Given the description of an element on the screen output the (x, y) to click on. 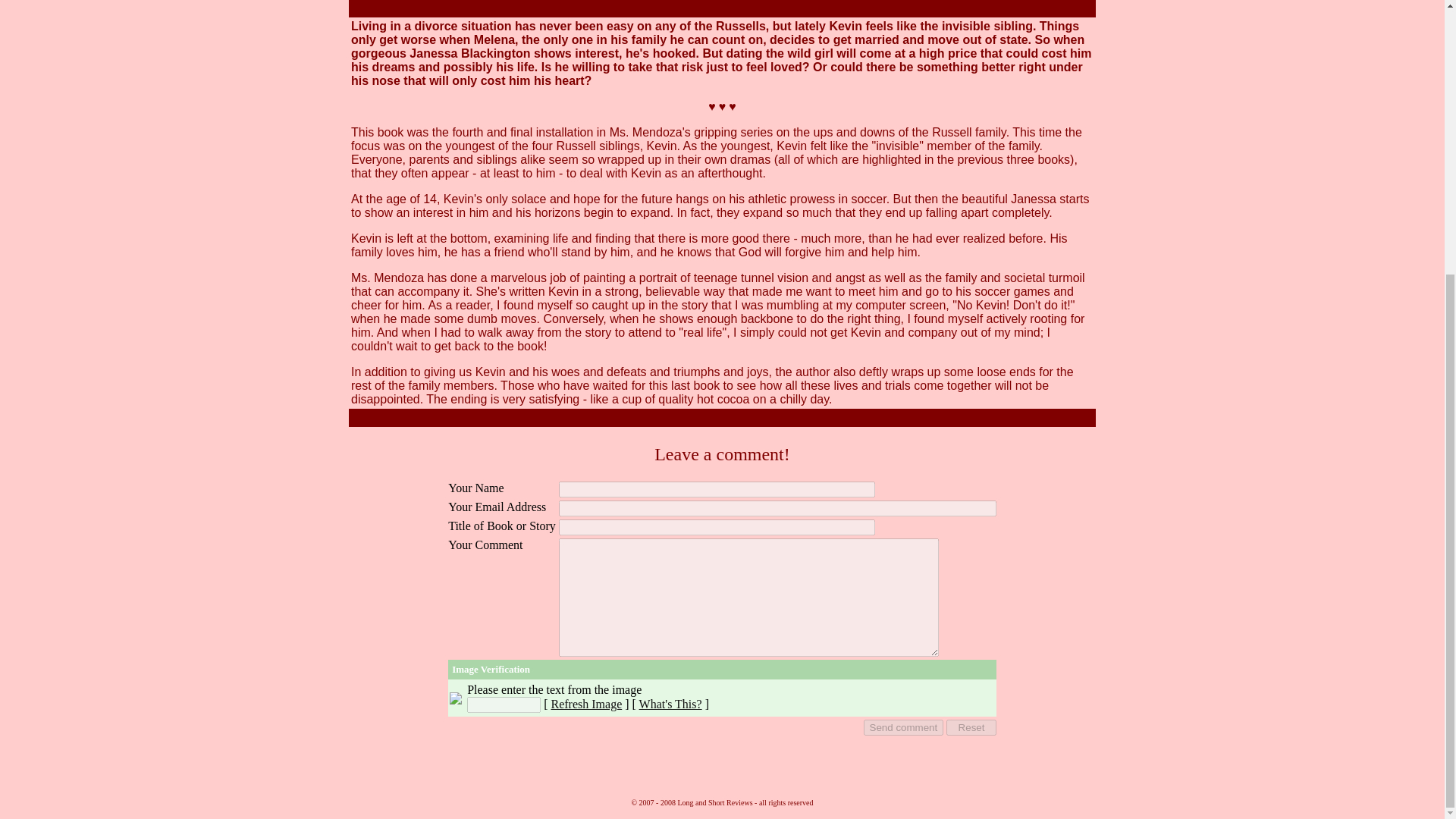
What's This? (670, 703)
Send comment (903, 727)
Send comment (903, 727)
Refresh Image (585, 703)
  Reset   (970, 727)
